Given the description of an element on the screen output the (x, y) to click on. 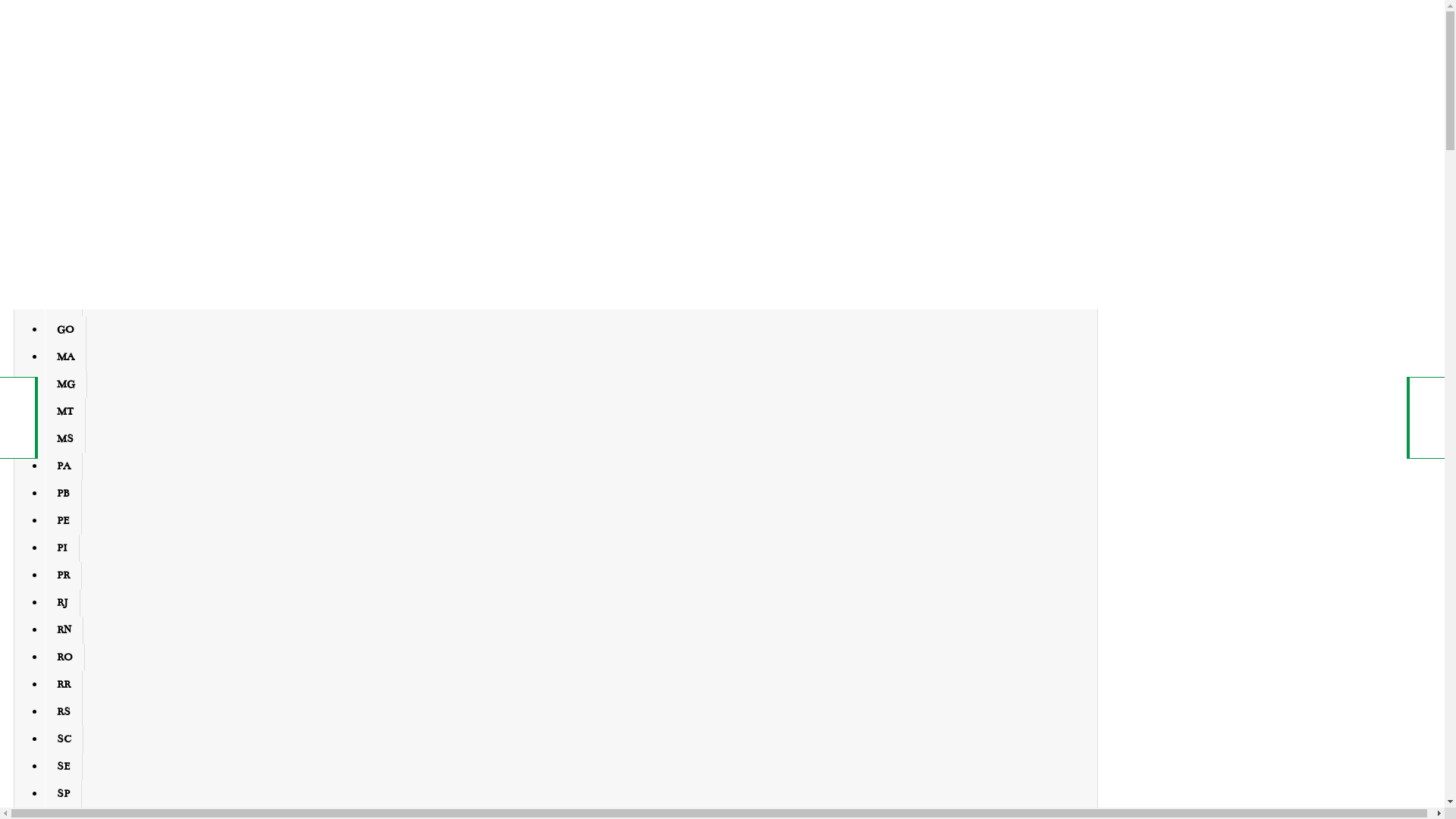
MG Element type: text (65, 384)
MS Element type: text (64, 438)
RN Element type: text (63, 629)
PI Element type: text (61, 547)
RR Element type: text (63, 684)
BA Element type: text (63, 220)
SE Element type: text (63, 766)
ES Element type: text (63, 302)
RO Element type: text (64, 657)
PB Element type: text (62, 493)
SC Element type: text (63, 739)
PE Element type: text (62, 520)
RJ Element type: text (62, 602)
AC Element type: text (63, 111)
SP Element type: text (62, 793)
AL Element type: text (63, 138)
PR Element type: text (62, 575)
RS Element type: text (63, 711)
AM Element type: text (65, 165)
AP Element type: text (63, 193)
MT Element type: text (64, 411)
MA Element type: text (65, 356)
PA Element type: text (63, 466)
GO Element type: text (65, 329)
DF Element type: text (63, 274)
CE Element type: text (63, 247)
